Given the description of an element on the screen output the (x, y) to click on. 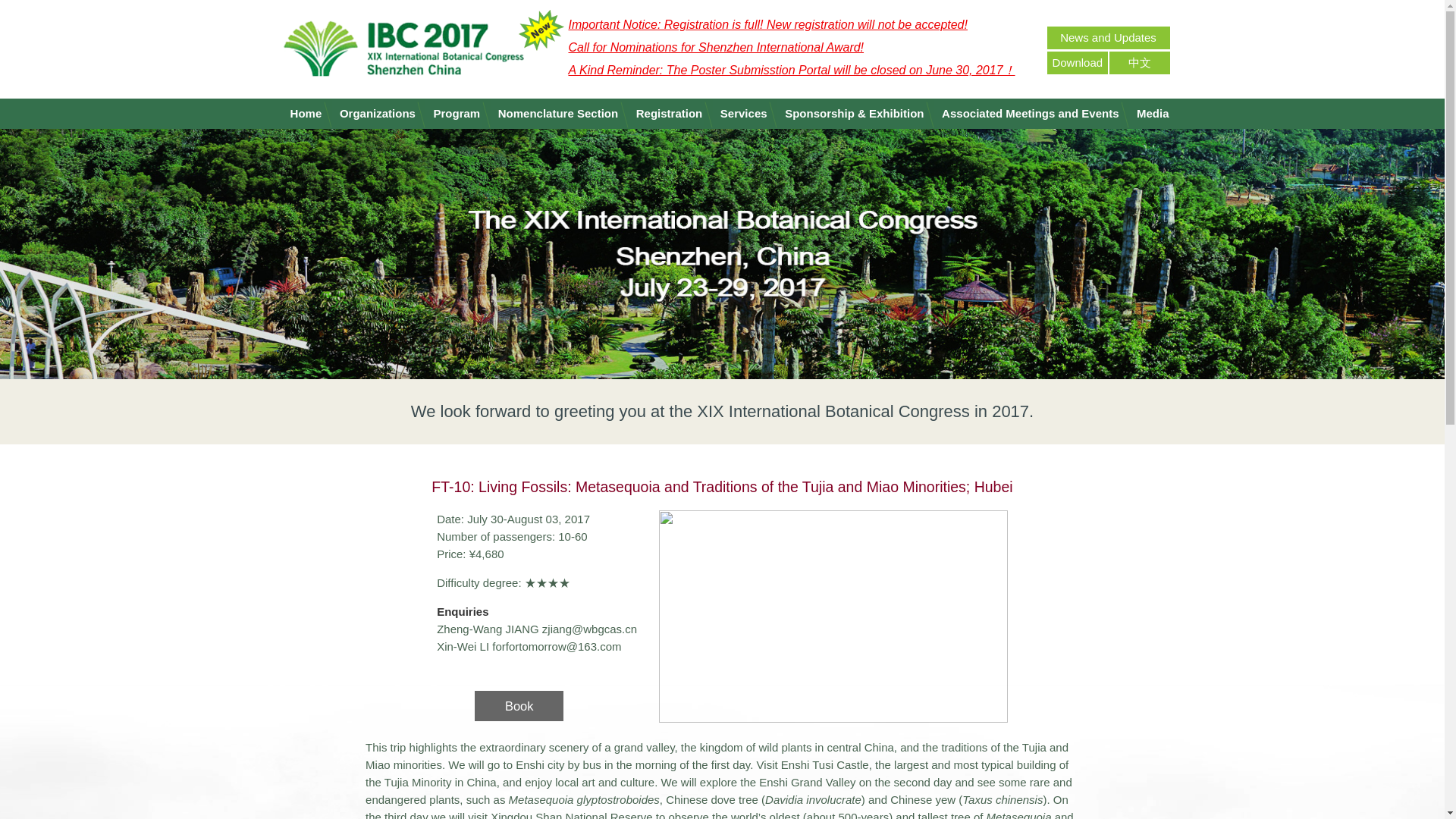
Call for Nominations for Shenzhen International Award! (716, 47)
